Given the description of an element on the screen output the (x, y) to click on. 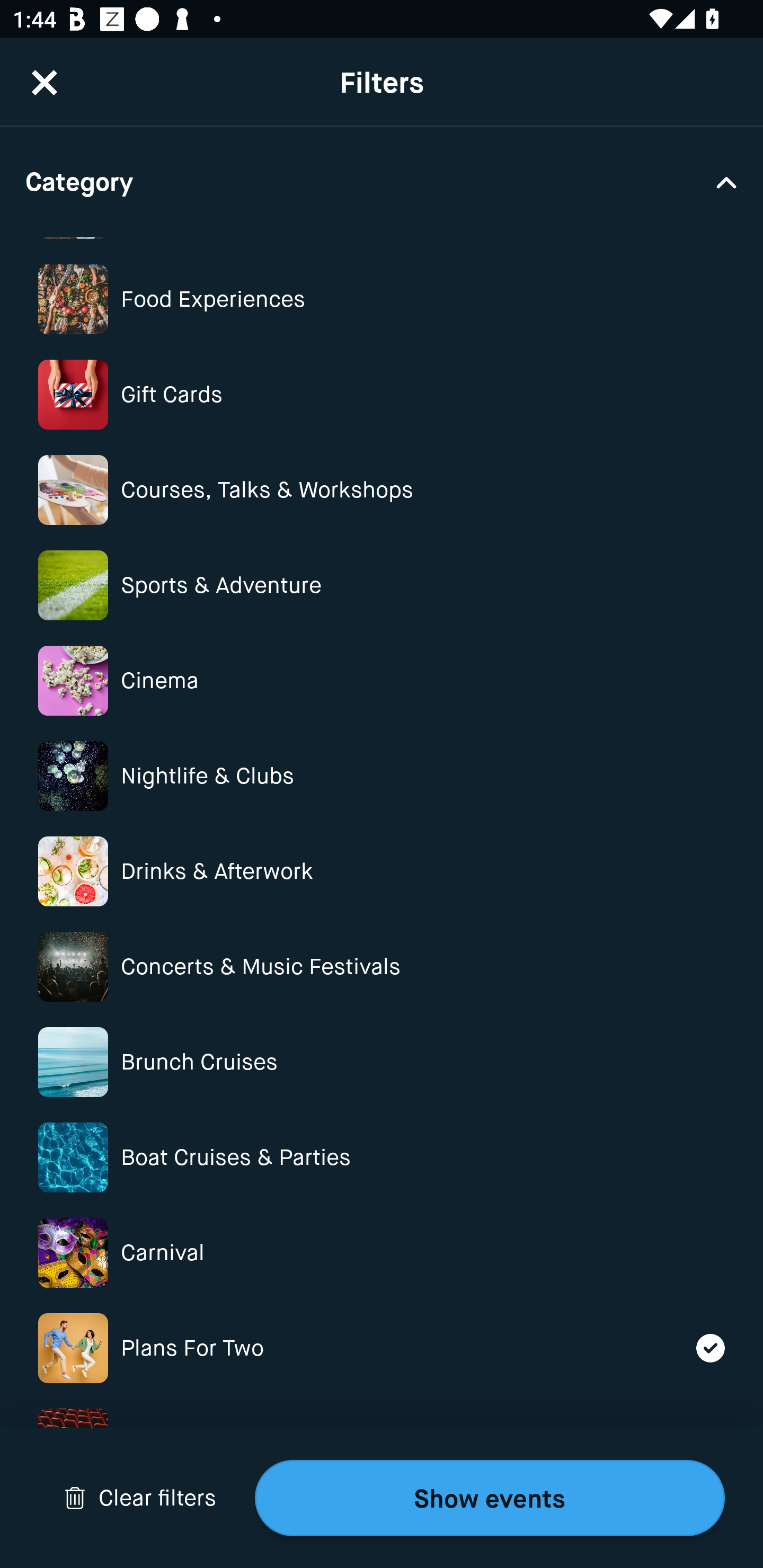
Category Drop Down Arrow (381, 181)
Category Image Food Experiences (381, 299)
Category Image Gift Cards (381, 393)
Category Image Courses, Talks & Workshops (381, 489)
Category Image Sports & Adventure (381, 585)
Category Image Cinema (381, 680)
Category Image Nightlife & Clubs (381, 775)
Category Image Drinks & Afterwork (381, 870)
Category Image Concerts & Music Festivals (381, 966)
Category Image Brunch Cruises (381, 1061)
Category Image Boat Cruises & Parties (381, 1156)
Category Image Carnival (381, 1252)
Category Image Plans For Two Selected Icon (381, 1347)
Drop Down Arrow Clear filters (139, 1497)
Show events (489, 1497)
